Given the description of an element on the screen output the (x, y) to click on. 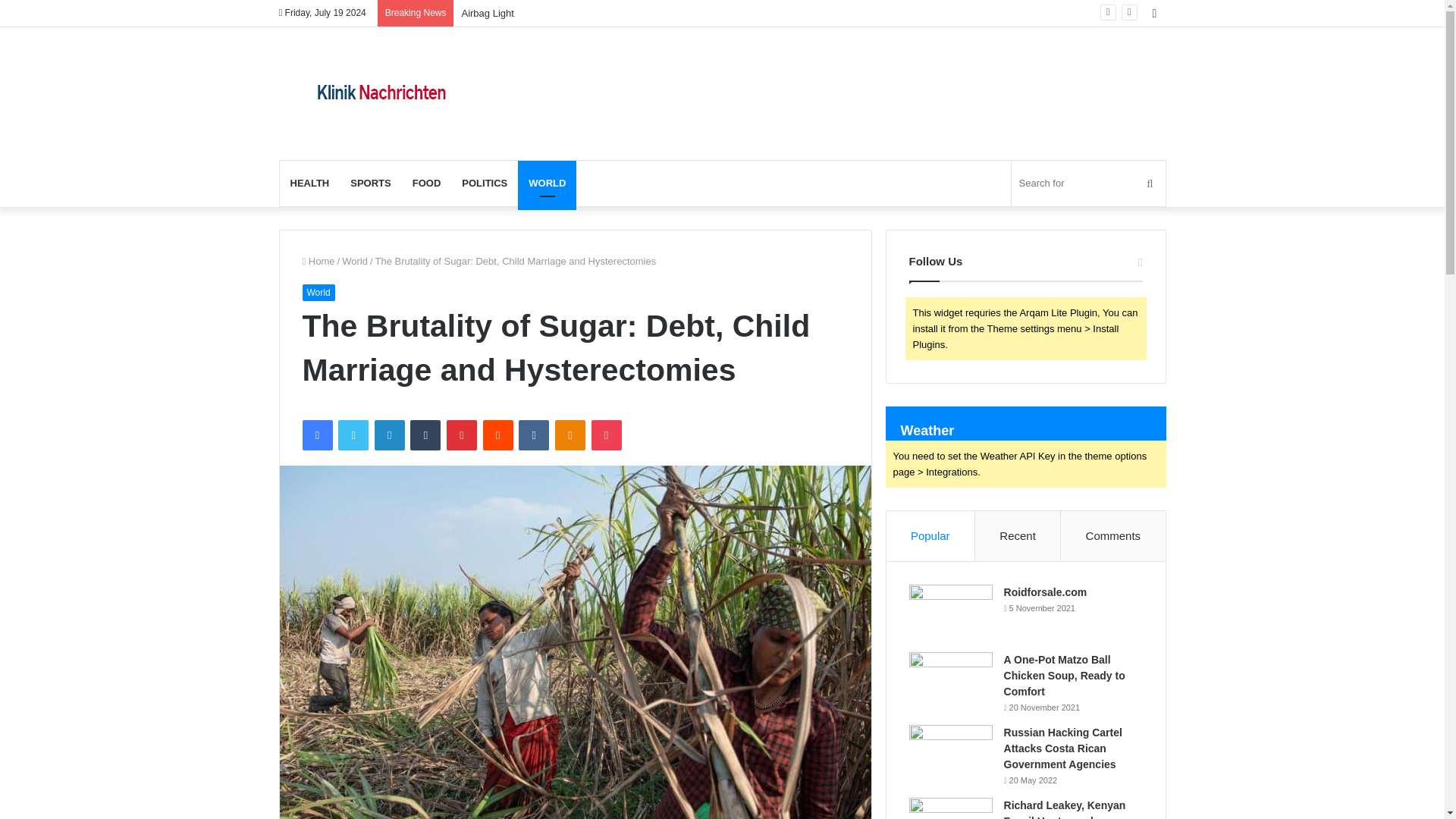
POLITICS (484, 183)
VKontakte (533, 435)
Twitter (352, 435)
Reddit (498, 435)
Home (317, 260)
Pinterest (461, 435)
Tumblr (425, 435)
Facebook (316, 435)
HEALTH (309, 183)
Odnoklassniki (569, 435)
LinkedIn (389, 435)
Tumblr (425, 435)
Pinterest (461, 435)
Pocket (606, 435)
World (355, 260)
